Given the description of an element on the screen output the (x, y) to click on. 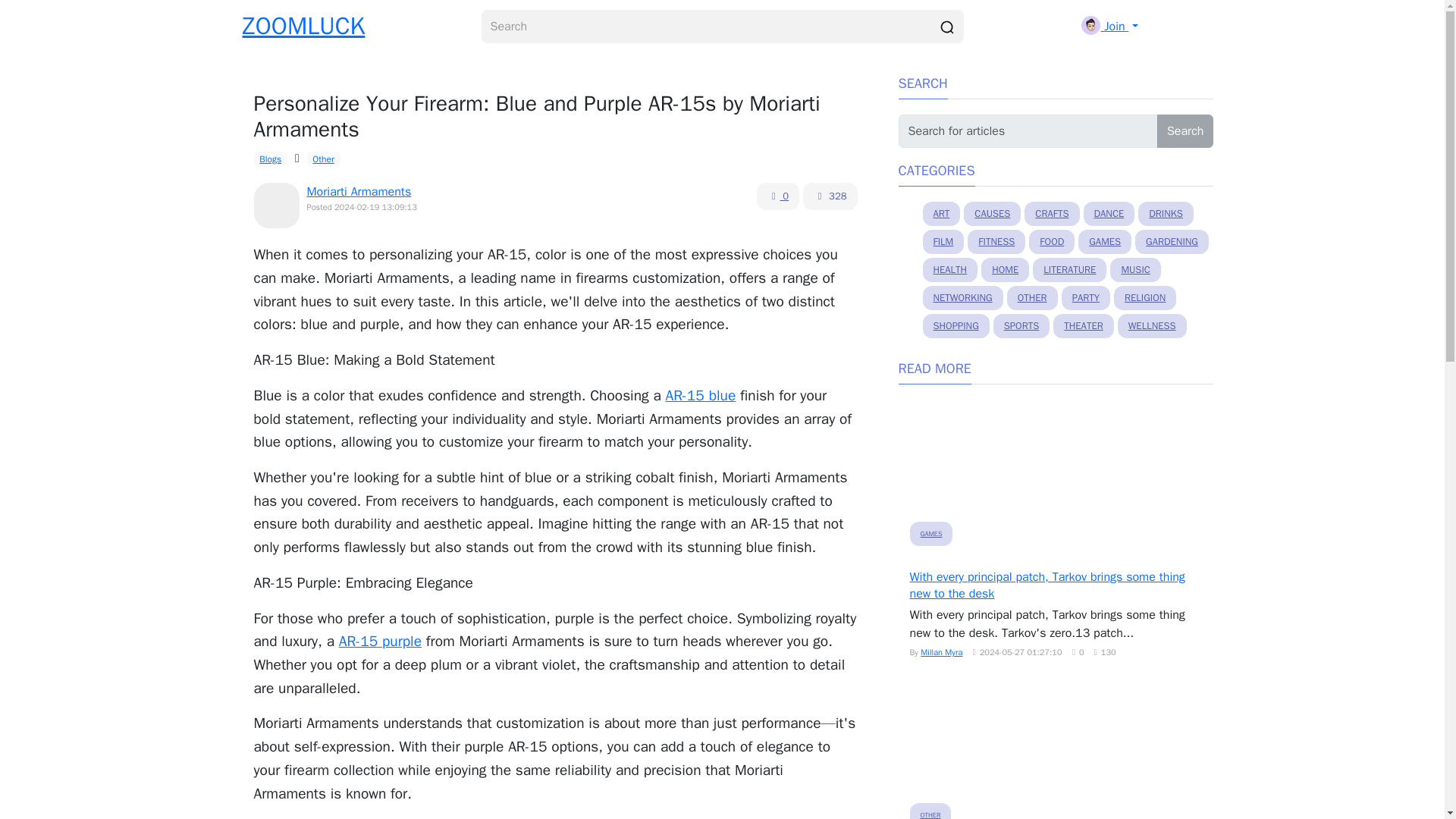
DANCE (1108, 213)
Blogs (269, 159)
Other (323, 159)
HEALTH (948, 269)
CRAFTS (1051, 213)
FITNESS (996, 241)
Search (1185, 131)
CAUSES (991, 213)
FILM (942, 241)
GAMES (1104, 241)
Join (1109, 26)
0 (778, 195)
DRINKS (1165, 213)
ART (940, 213)
FOOD (1051, 241)
